Given the description of an element on the screen output the (x, y) to click on. 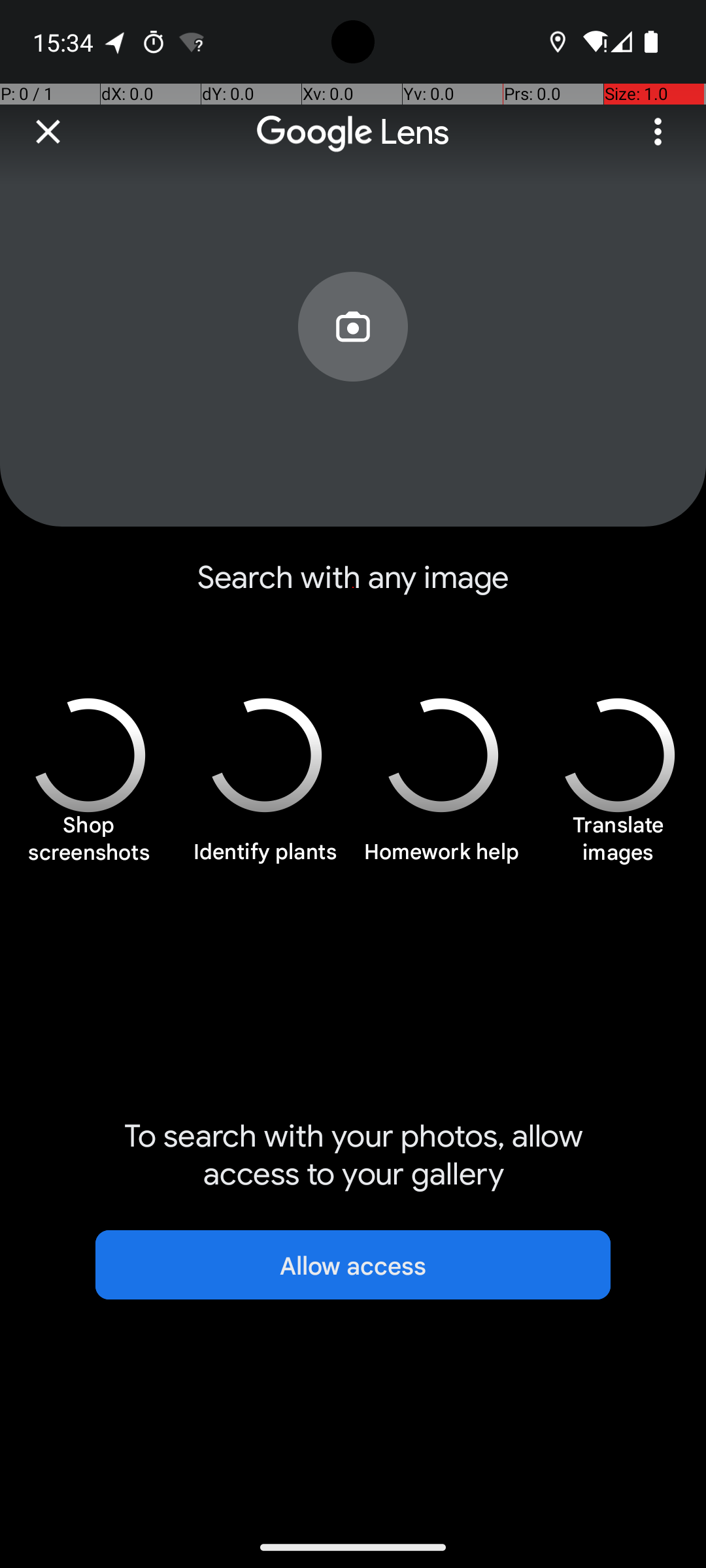
Search with your camera Element type: android.widget.FrameLayout (353, 356)
Search with any image Element type: android.widget.TextView (353, 587)
Shop screenshots Element type: android.widget.TextView (88, 845)
Identify plants Element type: android.widget.TextView (264, 858)
Homework help Element type: android.widget.TextView (441, 858)
Translate images Element type: android.widget.TextView (617, 845)
To search with your photos, allow access to your gallery Element type: android.widget.TextView (352, 1154)
Allow access Element type: android.widget.Button (352, 1264)
